Given the description of an element on the screen output the (x, y) to click on. 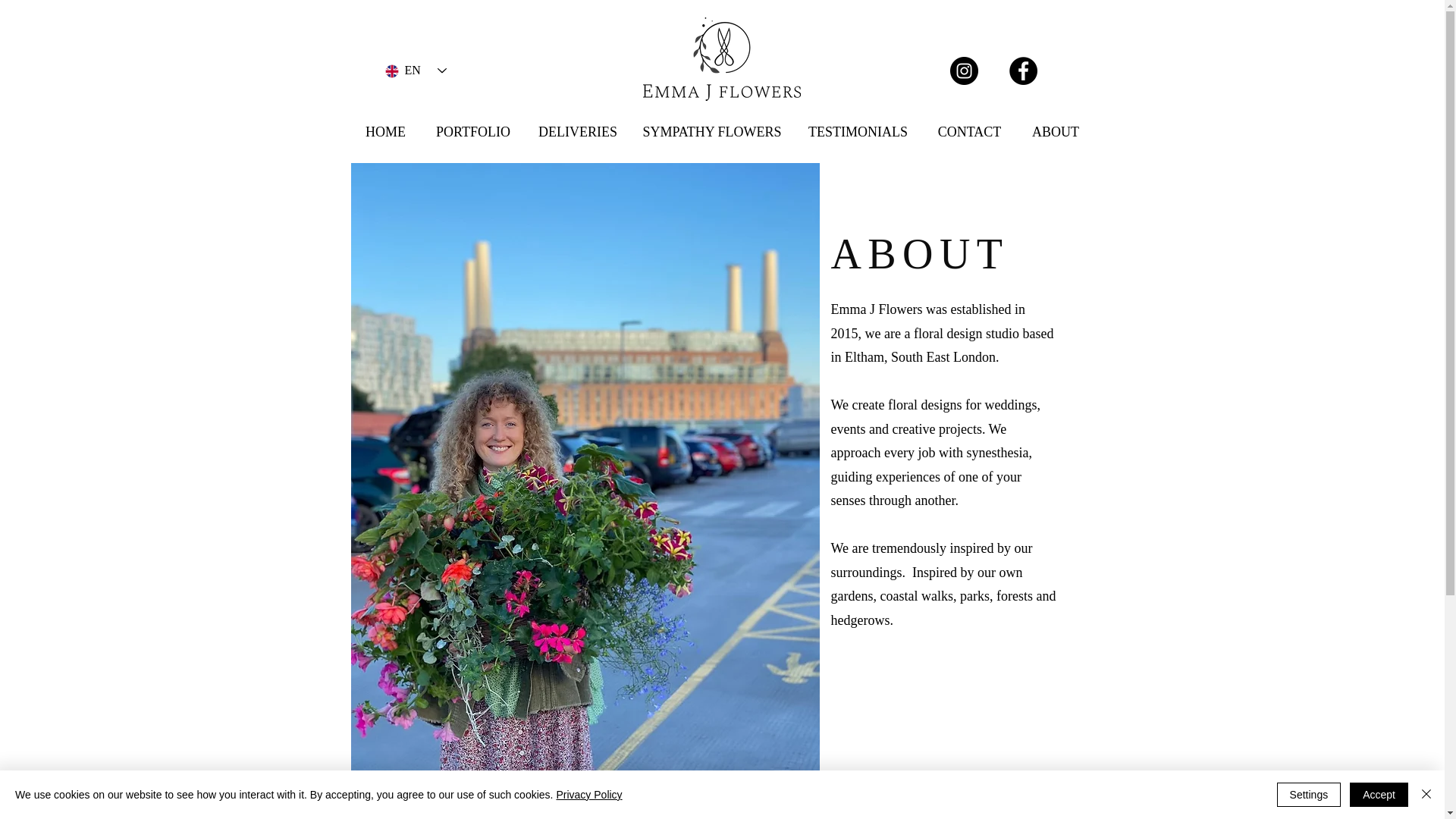
SYMPATHY FLOWERS (710, 131)
Privacy Policy (588, 794)
ABOUT (1055, 131)
Settings (1308, 794)
HOME (385, 131)
TESTIMONIALS (857, 131)
Accept (1378, 794)
PORTFOLIO (472, 131)
DELIVERIES (577, 131)
CONTACT (969, 131)
